Given the description of an element on the screen output the (x, y) to click on. 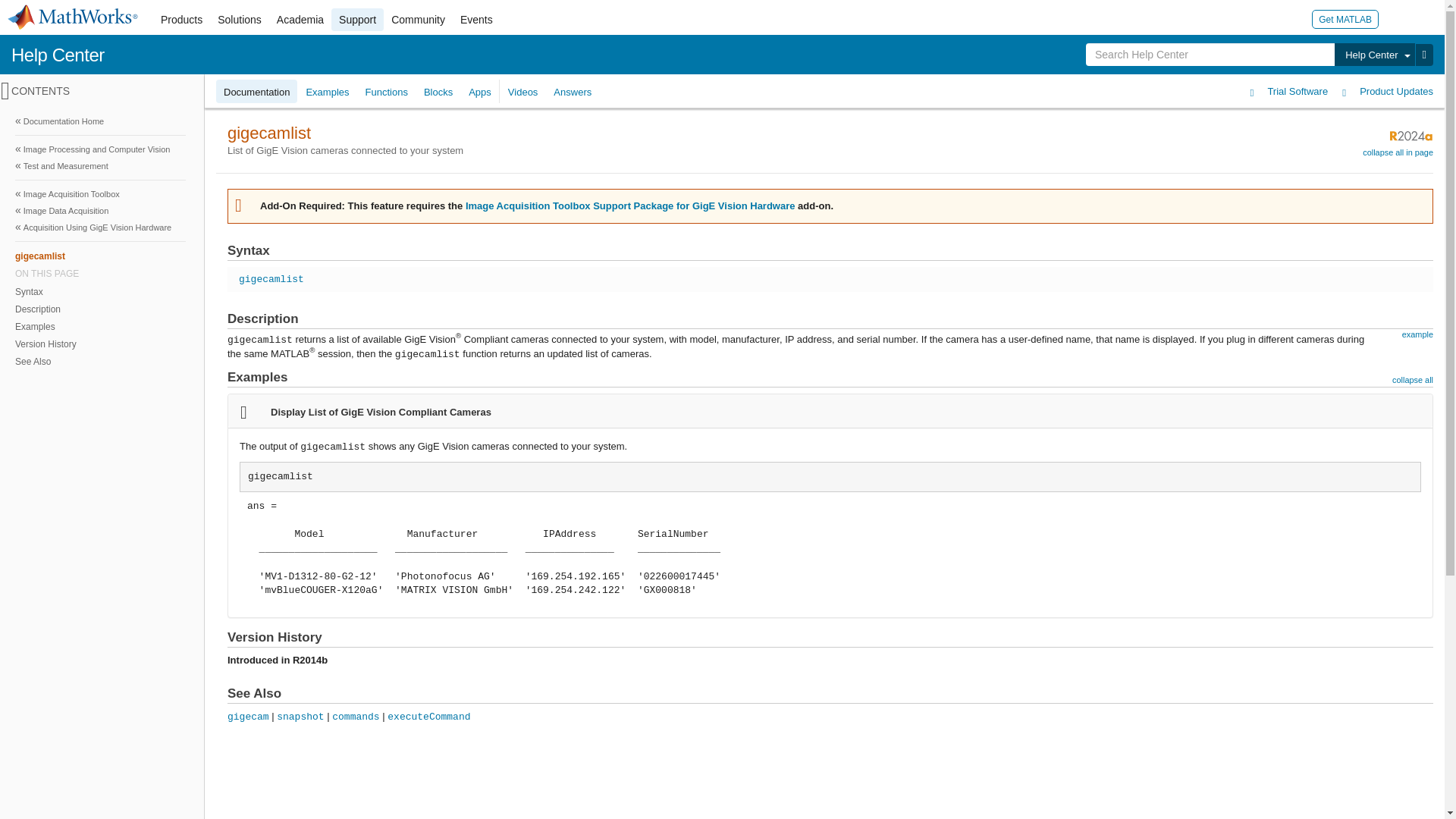
Get MATLAB (1344, 18)
Academia (300, 19)
Sign In to Your MathWorks Account (1396, 18)
Support (357, 19)
Events (476, 19)
ON THIS PAGE (100, 273)
Off-Canvas Navigation Menu Toggle (5, 91)
gigecamlist (100, 255)
Image Processing and Computer Vision (100, 149)
Help Center (1374, 54)
Documentation Home (100, 121)
Solutions (239, 19)
Help Center (57, 54)
gigecamlist (98, 255)
Products (180, 19)
